Given the description of an element on the screen output the (x, y) to click on. 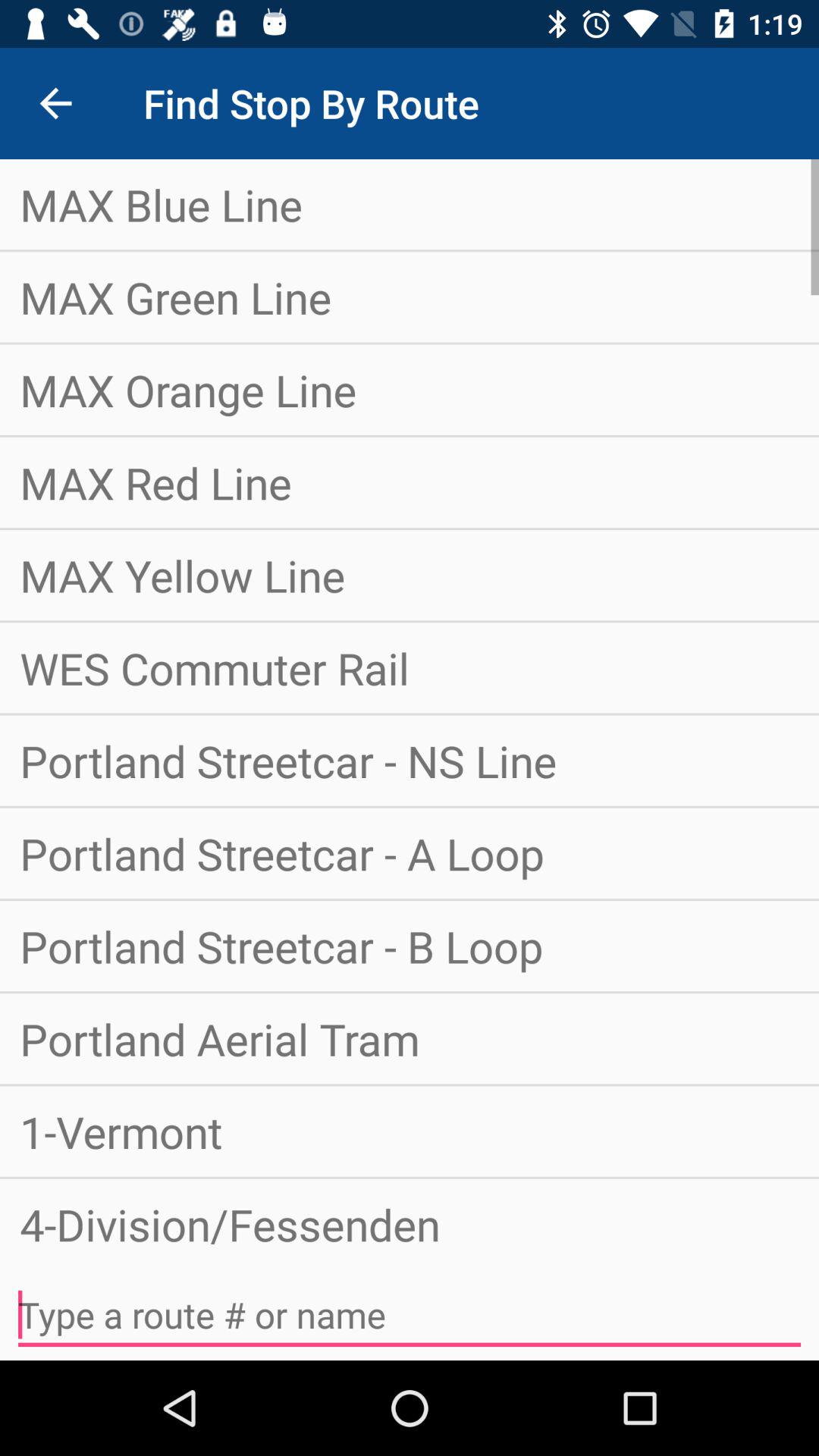
scroll to portland aerial tram icon (409, 1038)
